Given the description of an element on the screen output the (x, y) to click on. 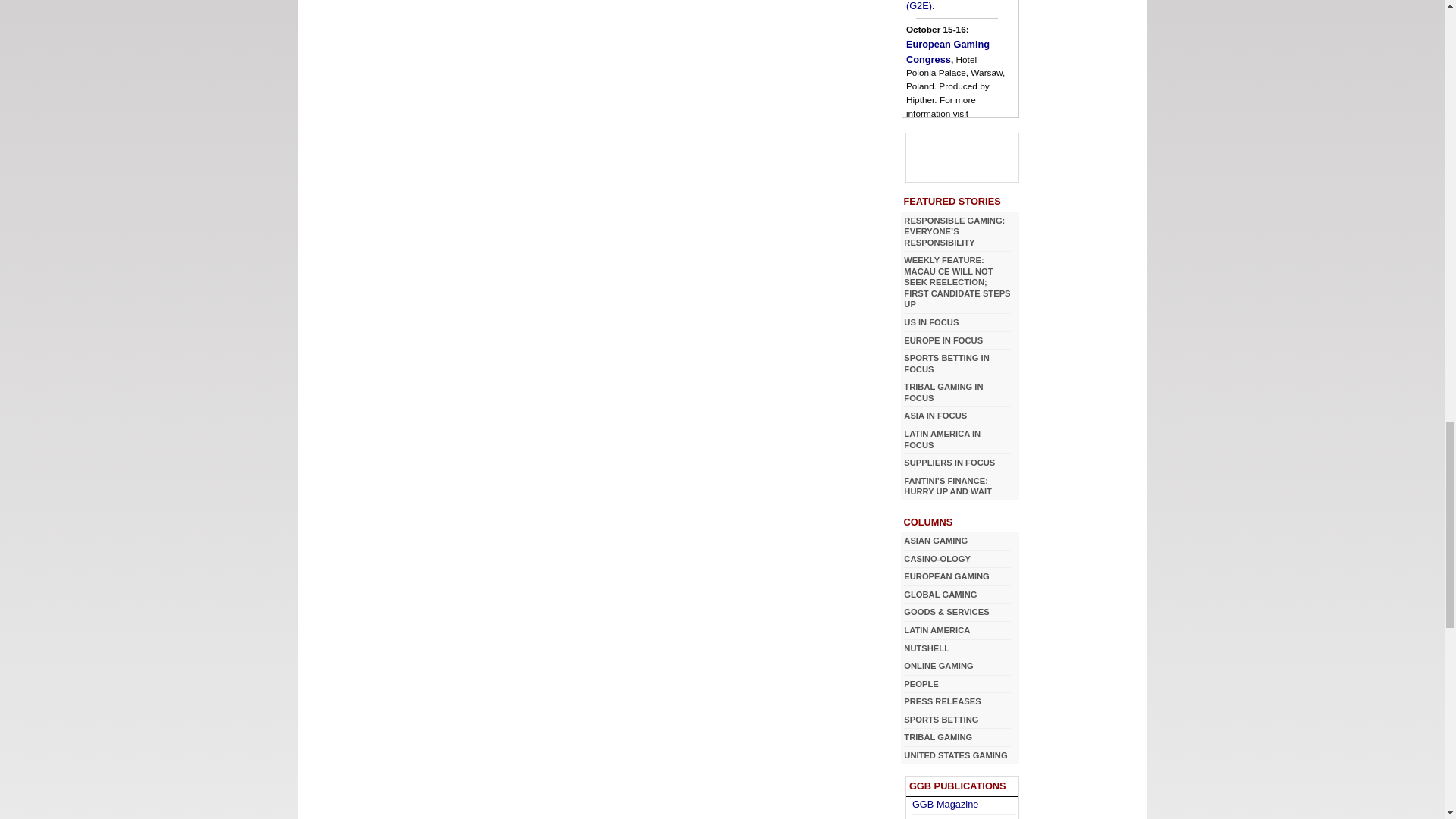
Eastern European Gaming Summit (947, 174)
Eastern European Gaming Summit (947, 174)
European Gaming Congress (947, 51)
European Gaming Congress (947, 51)
European Gaming Congress (957, 128)
